Given the description of an element on the screen output the (x, y) to click on. 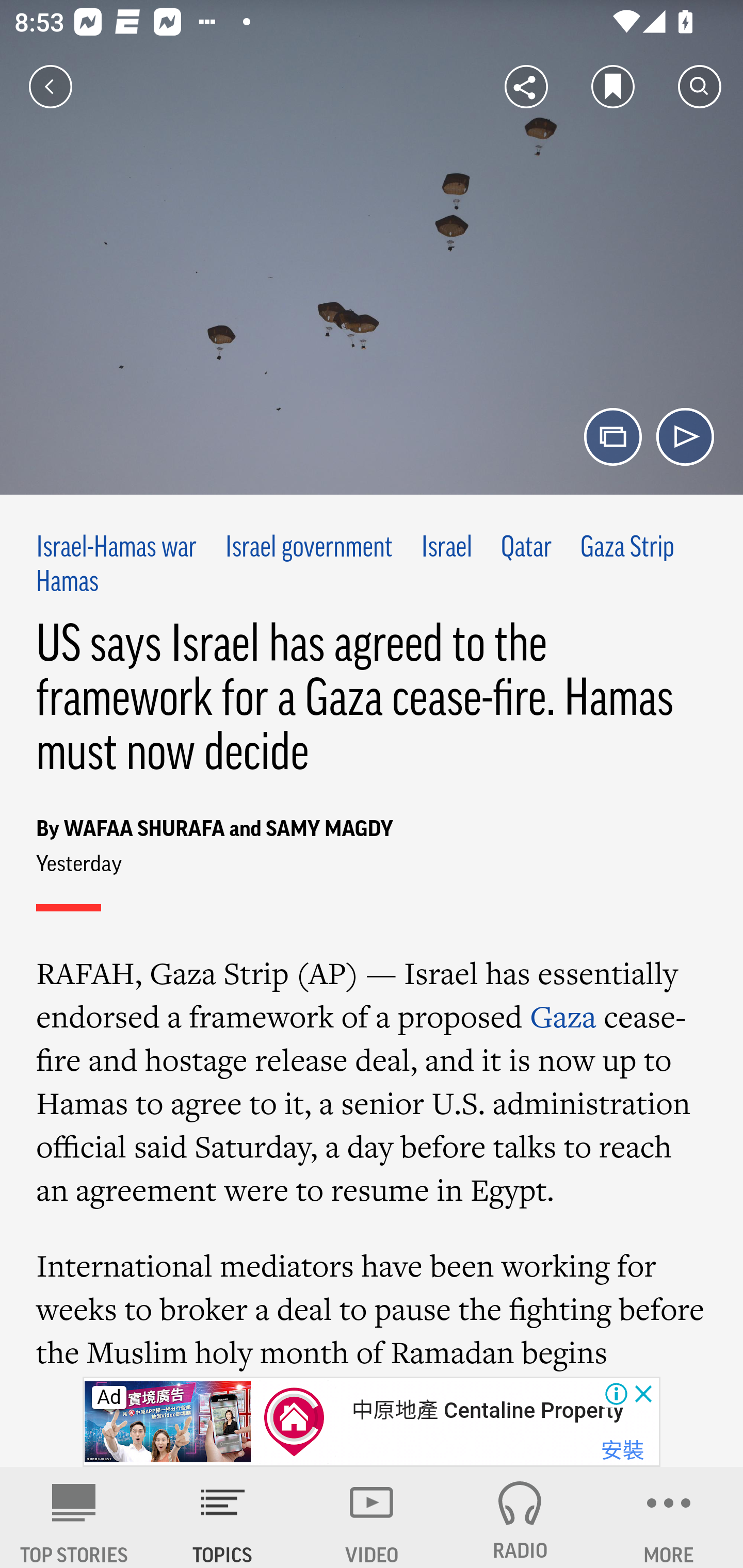
Israel-Hamas war (117, 548)
Israel government (308, 548)
Israel (446, 548)
Qatar (526, 548)
Gaza Strip (627, 548)
Hamas (67, 582)
Gaza (563, 1016)
中原地產 Centaline Property (486, 1410)
安裝 (621, 1450)
AP News TOP STORIES (74, 1517)
TOPICS (222, 1517)
VIDEO (371, 1517)
RADIO (519, 1517)
MORE (668, 1517)
